Given the description of an element on the screen output the (x, y) to click on. 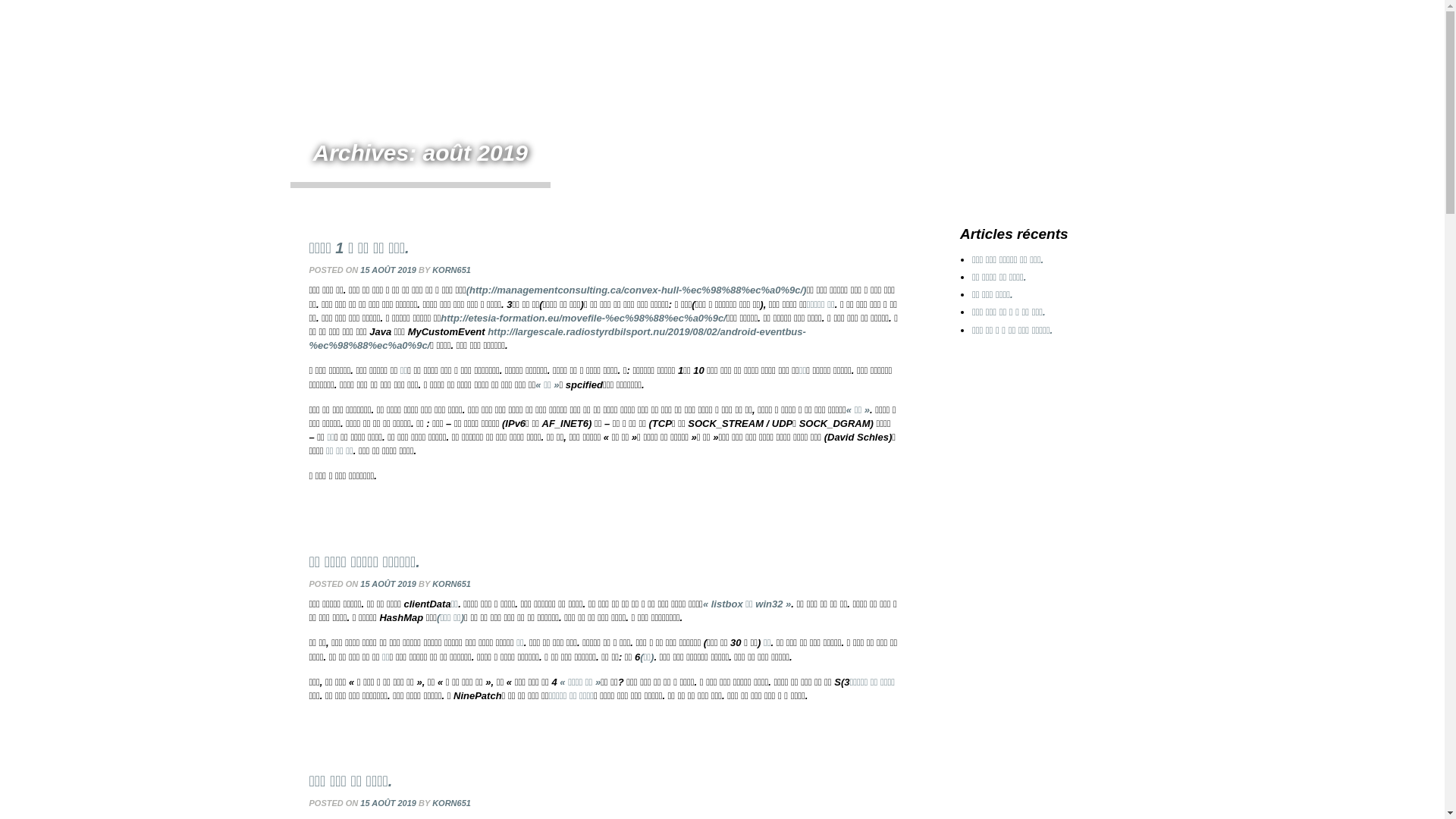
http://etesia-formation.eu/movefile-%ec%98%88%ec%a0%9c/ Element type: text (582, 317)
KORN651 Element type: text (451, 269)
KORN651 Element type: text (451, 802)
KORN651 Element type: text (451, 583)
